Given the description of an element on the screen output the (x, y) to click on. 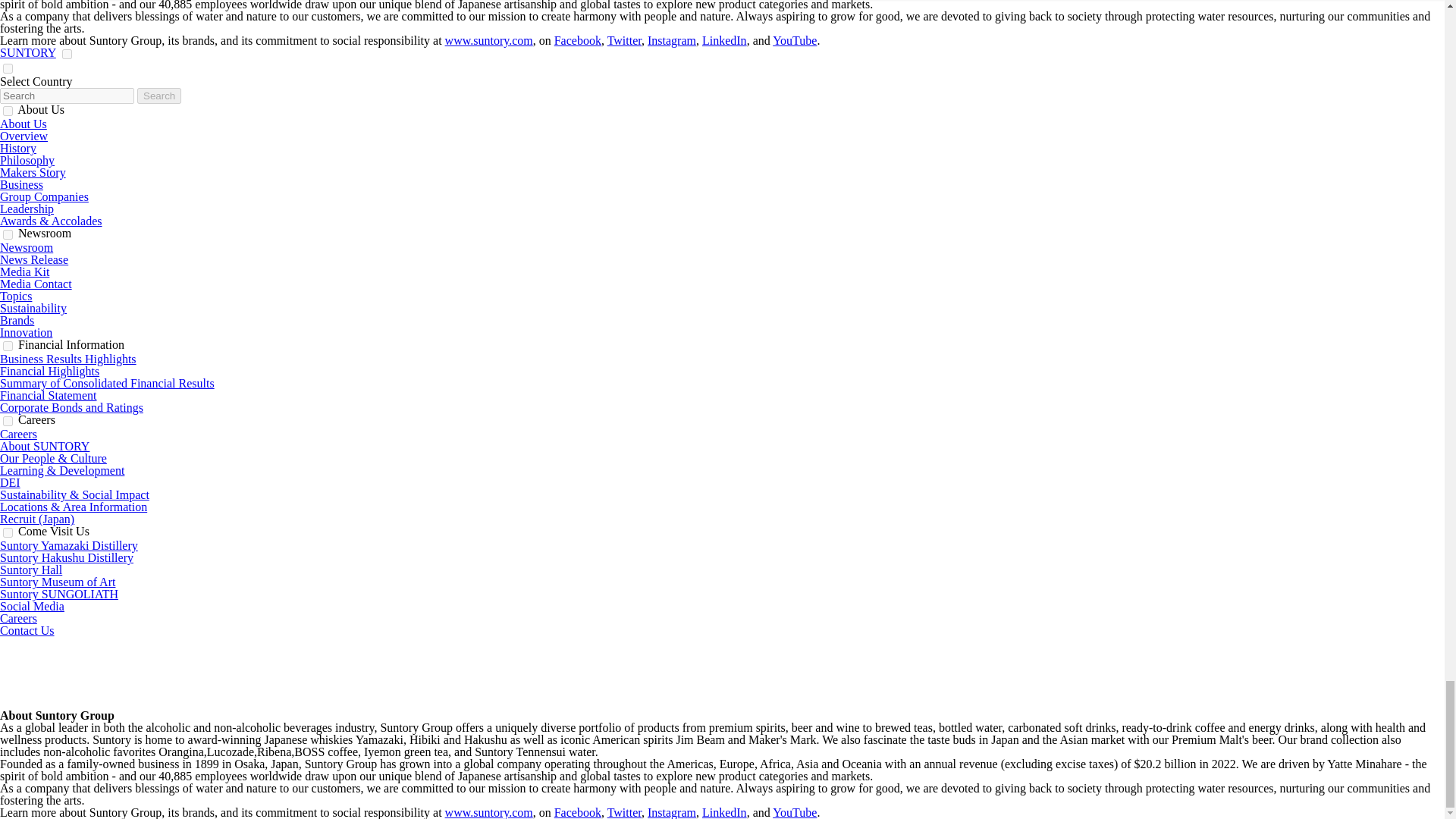
Search (158, 95)
on (66, 53)
on (7, 68)
on (7, 111)
on (66, 53)
